Given the description of an element on the screen output the (x, y) to click on. 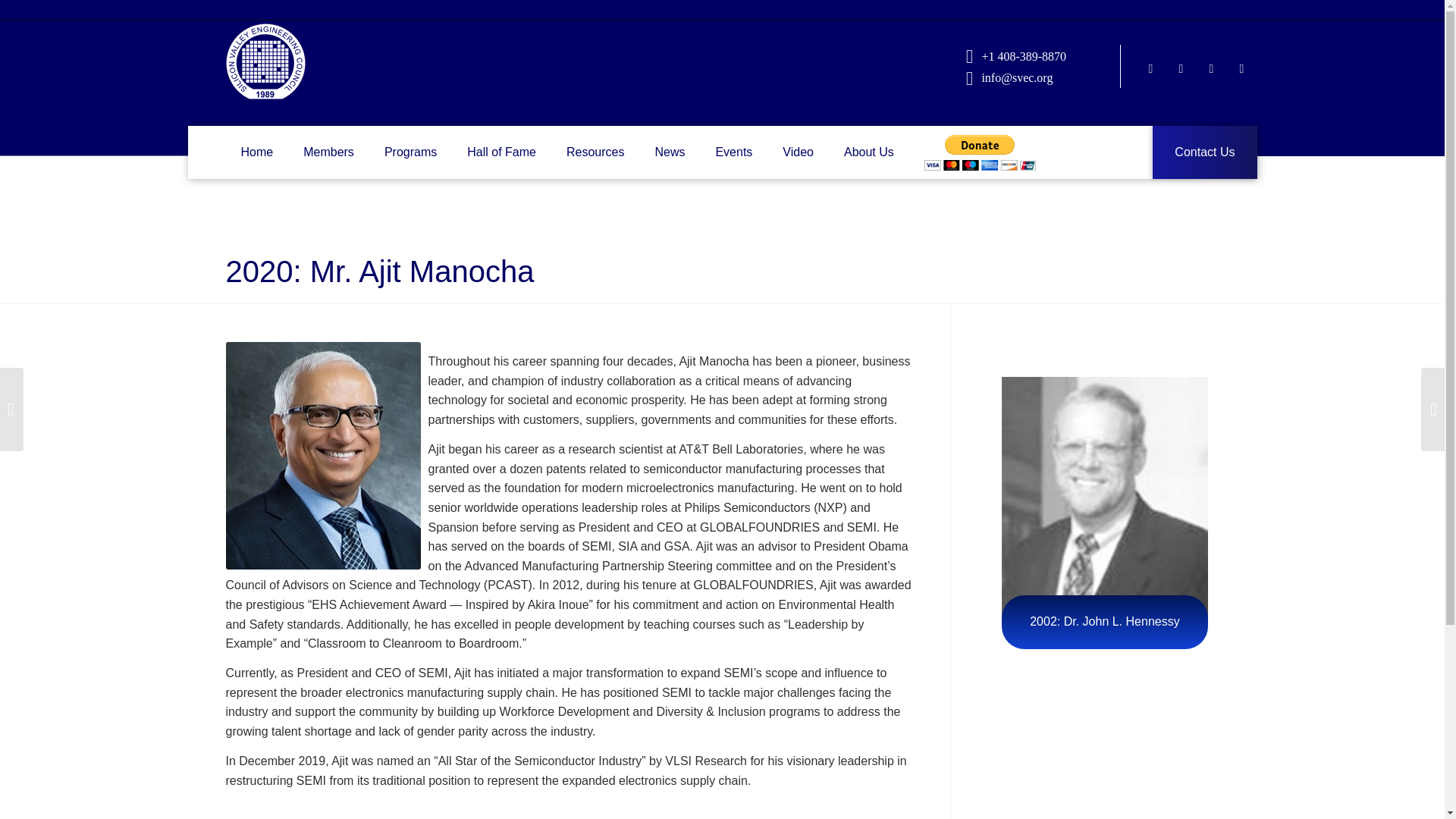
Members (328, 152)
Programs (410, 152)
Permanent Link: 2020: Mr. Ajit Manocha (379, 271)
Hall of Fame (501, 152)
Home (256, 152)
PayPal - The safer, easier way to pay online! (979, 152)
